Given the description of an element on the screen output the (x, y) to click on. 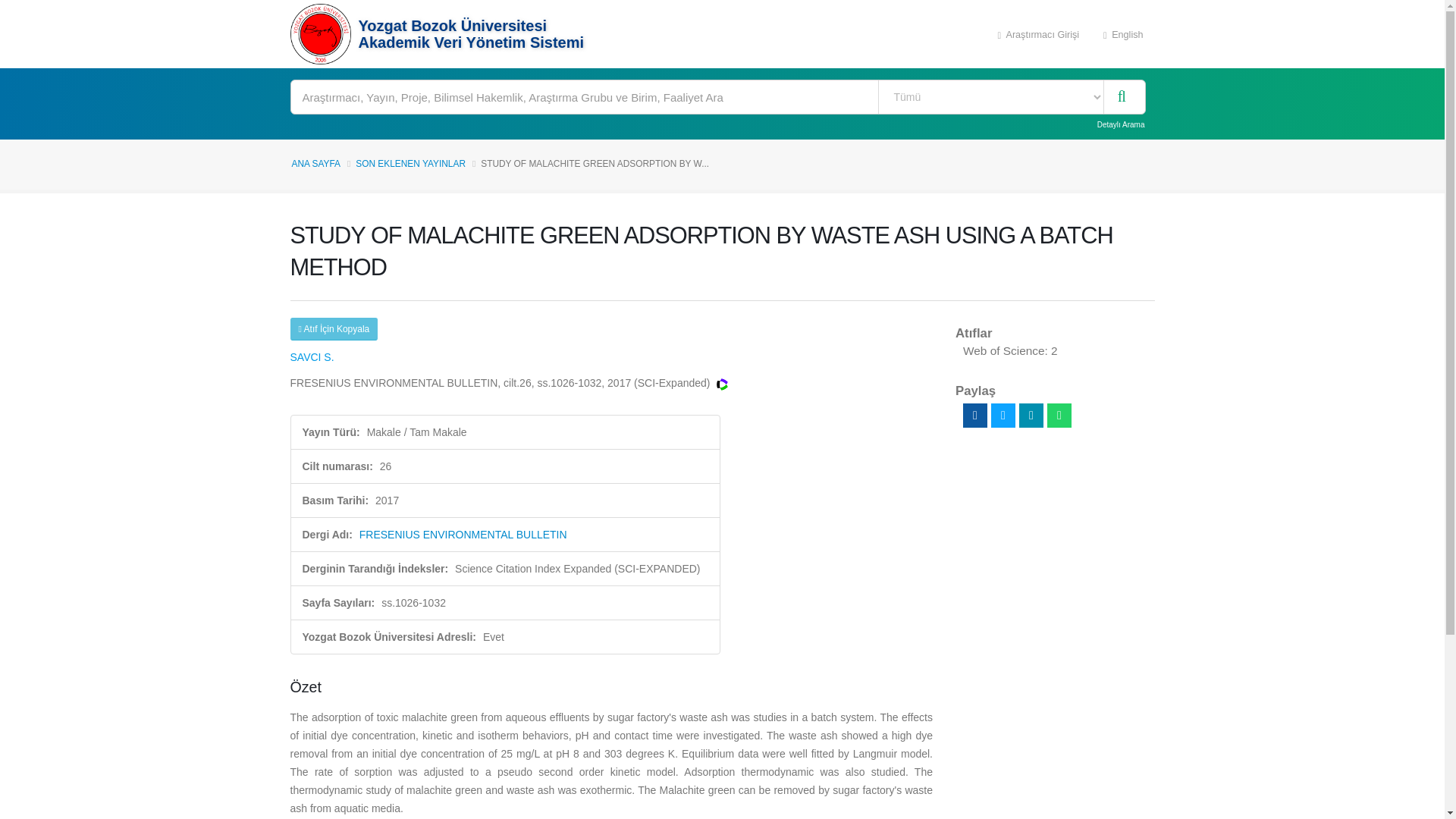
English (1123, 33)
ANA SAYFA (315, 163)
SAVCI S. (311, 357)
SON EKLENEN YAYINLAR (410, 163)
FRESENIUS ENVIRONMENTAL BULLETIN (463, 534)
